Given the description of an element on the screen output the (x, y) to click on. 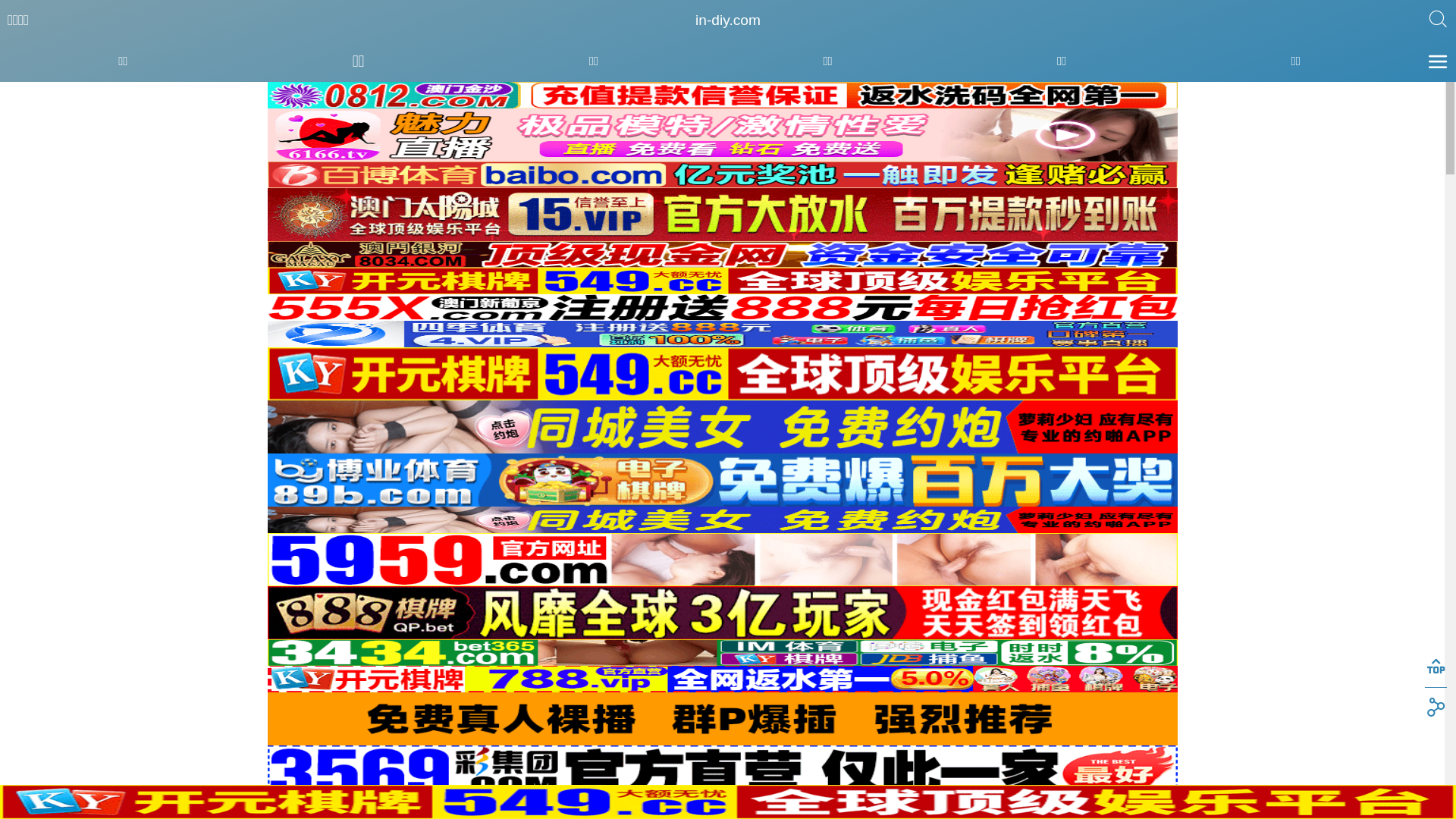
in-diy.com Element type: text (727, 20)
